Given the description of an element on the screen output the (x, y) to click on. 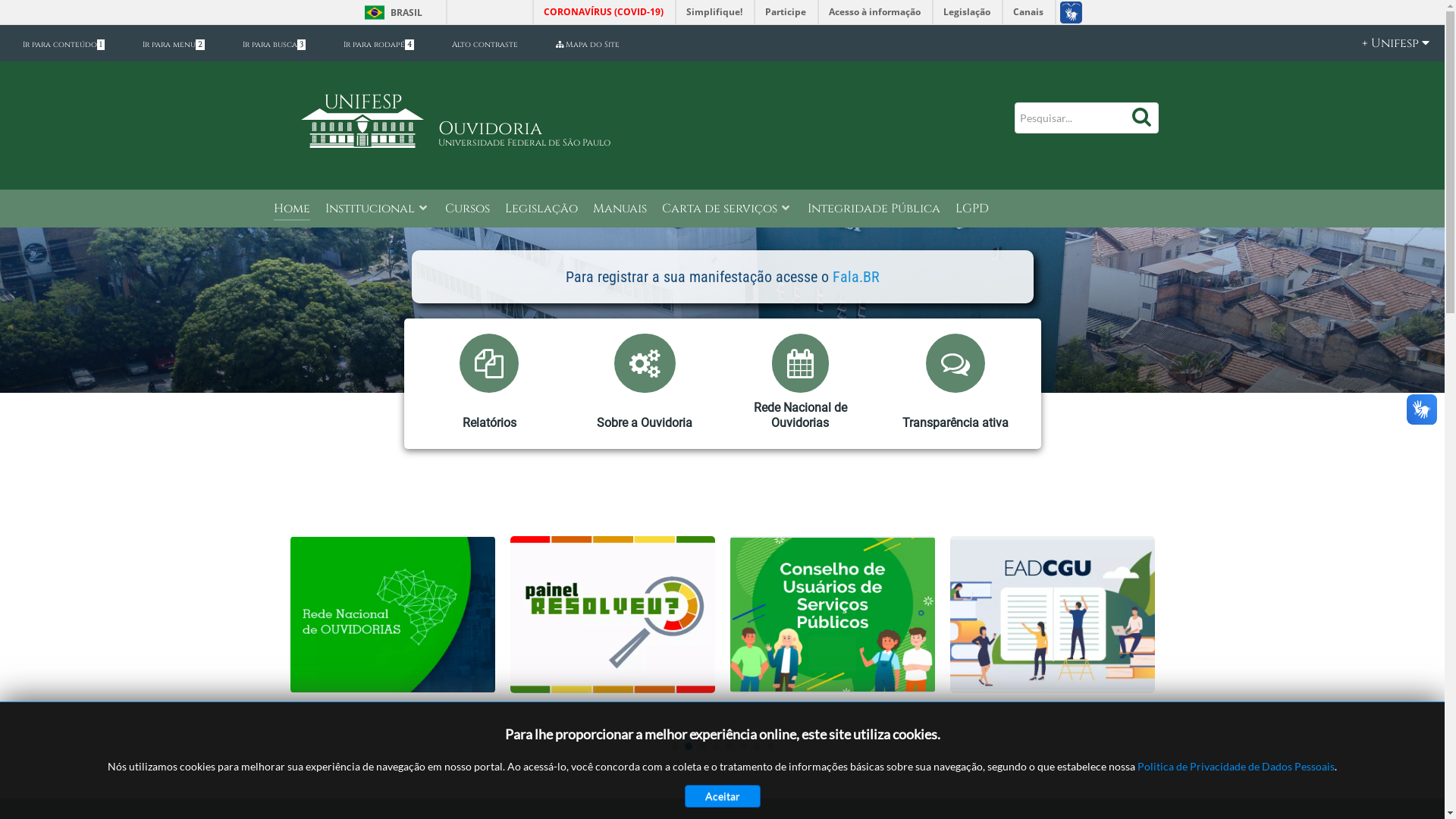
+ Unifesp Element type: text (1387, 43)
Politica de Privacidade de Dados Pessoais Element type: text (1235, 765)
on Element type: text (4, 4)
Cursos Element type: text (466, 209)
Manuais Element type: text (619, 209)
Ir para busca3 Element type: text (273, 44)
Mapa do Site Element type: text (587, 44)
Fala.BR Element type: text (855, 276)
Ir para menu2 Element type: text (173, 44)
Home Element type: text (291, 209)
BRASIL Element type: text (389, 12)
Alto contraste Element type: text (484, 44)
LGPD Element type: text (971, 209)
